Given the description of an element on the screen output the (x, y) to click on. 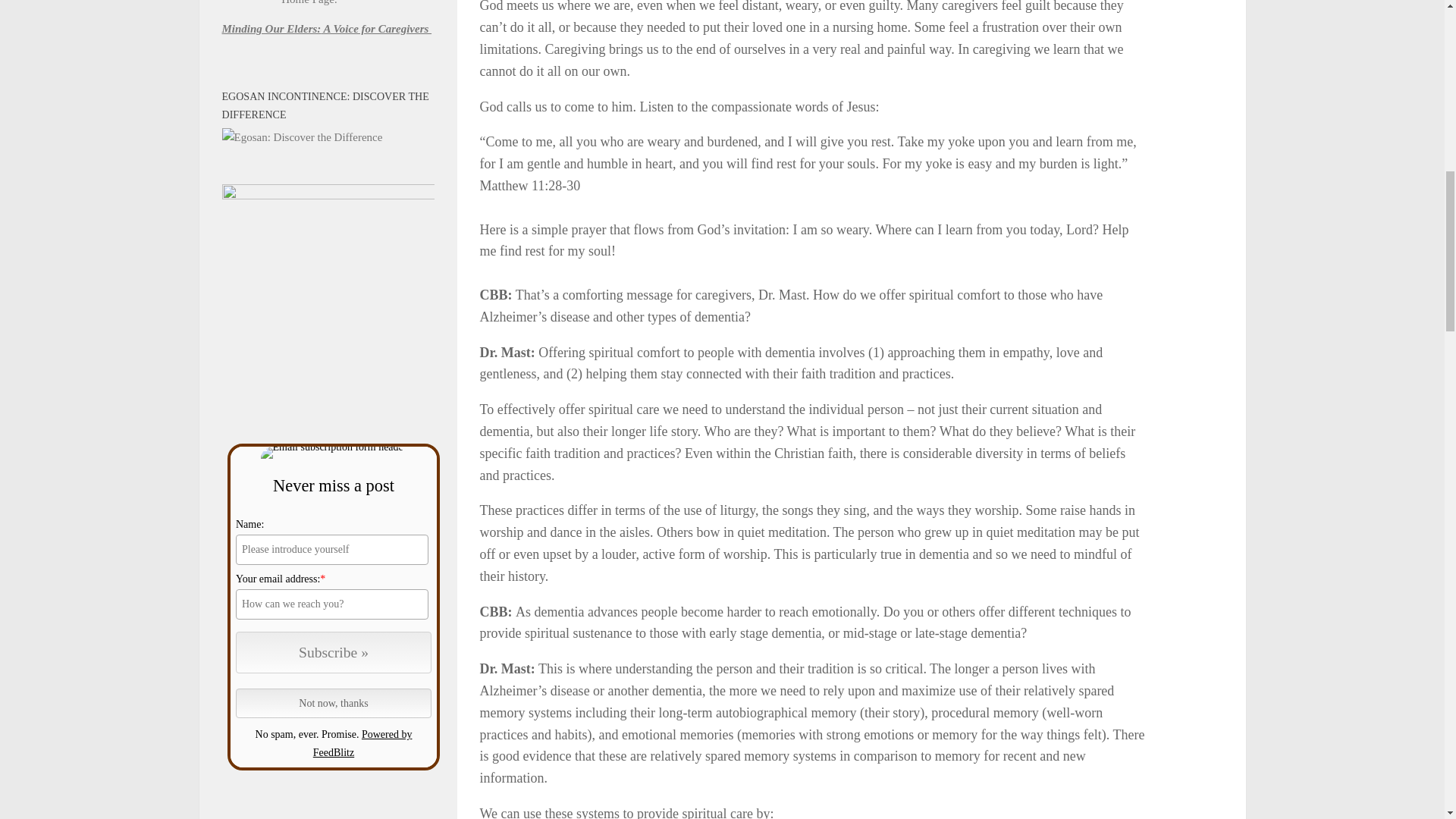
Hide this form for now (332, 703)
Not now, thanks (332, 703)
Please introduce yourself (331, 549)
Egosan Incontinence: Discover the Difference (301, 136)
How can we reach you? (331, 603)
click to join (332, 652)
